Given the description of an element on the screen output the (x, y) to click on. 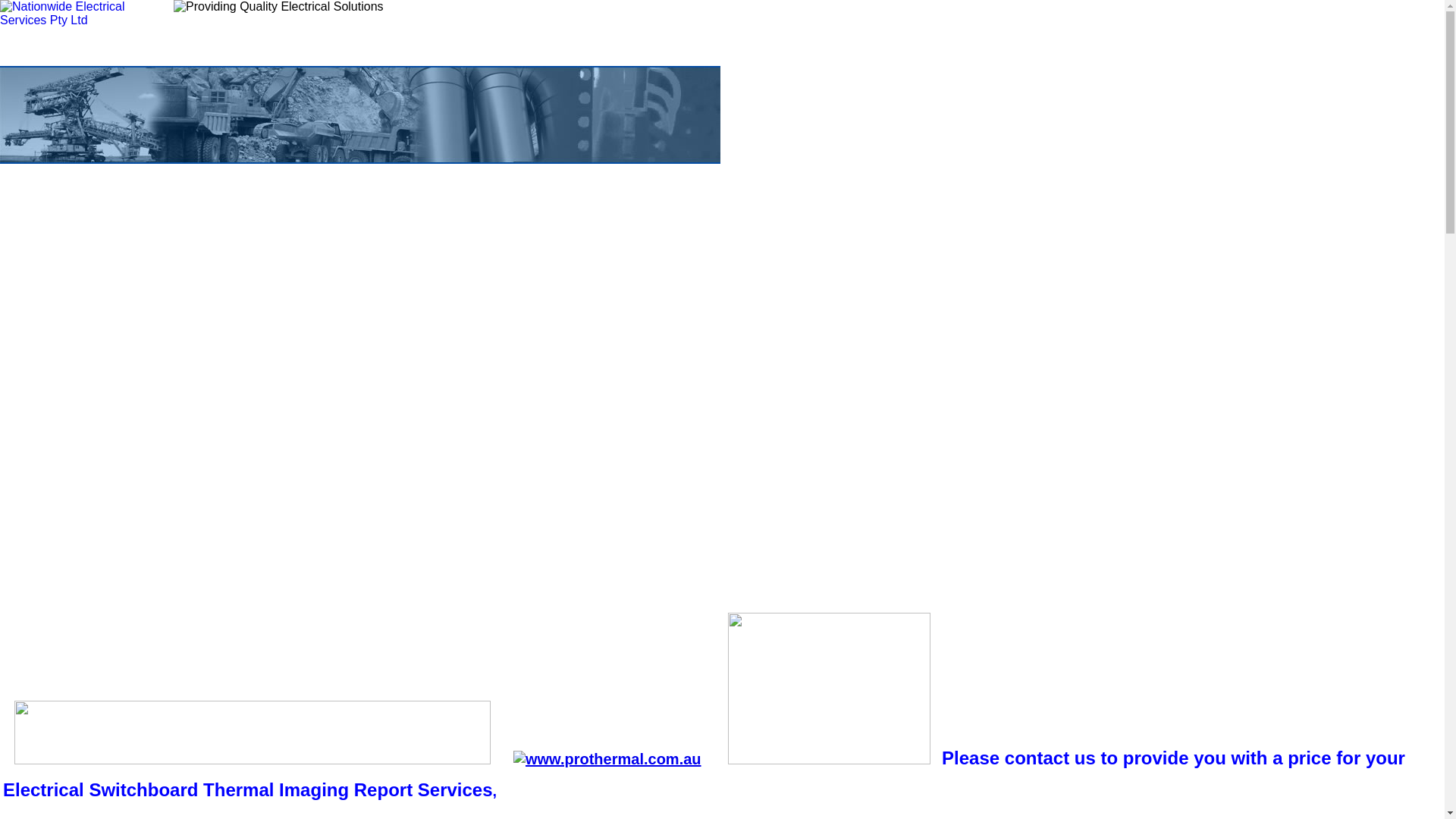
Thermography Sample Report Element type: text (222, 523)
info@neservices.com.au Element type: text (80, 435)
Galleries Element type: text (506, 523)
Other Products & Services Element type: text (390, 523)
Jump to navigation Element type: text (722, 2)
Thermographic Scanning Element type: text (67, 523)
